Given the description of an element on the screen output the (x, y) to click on. 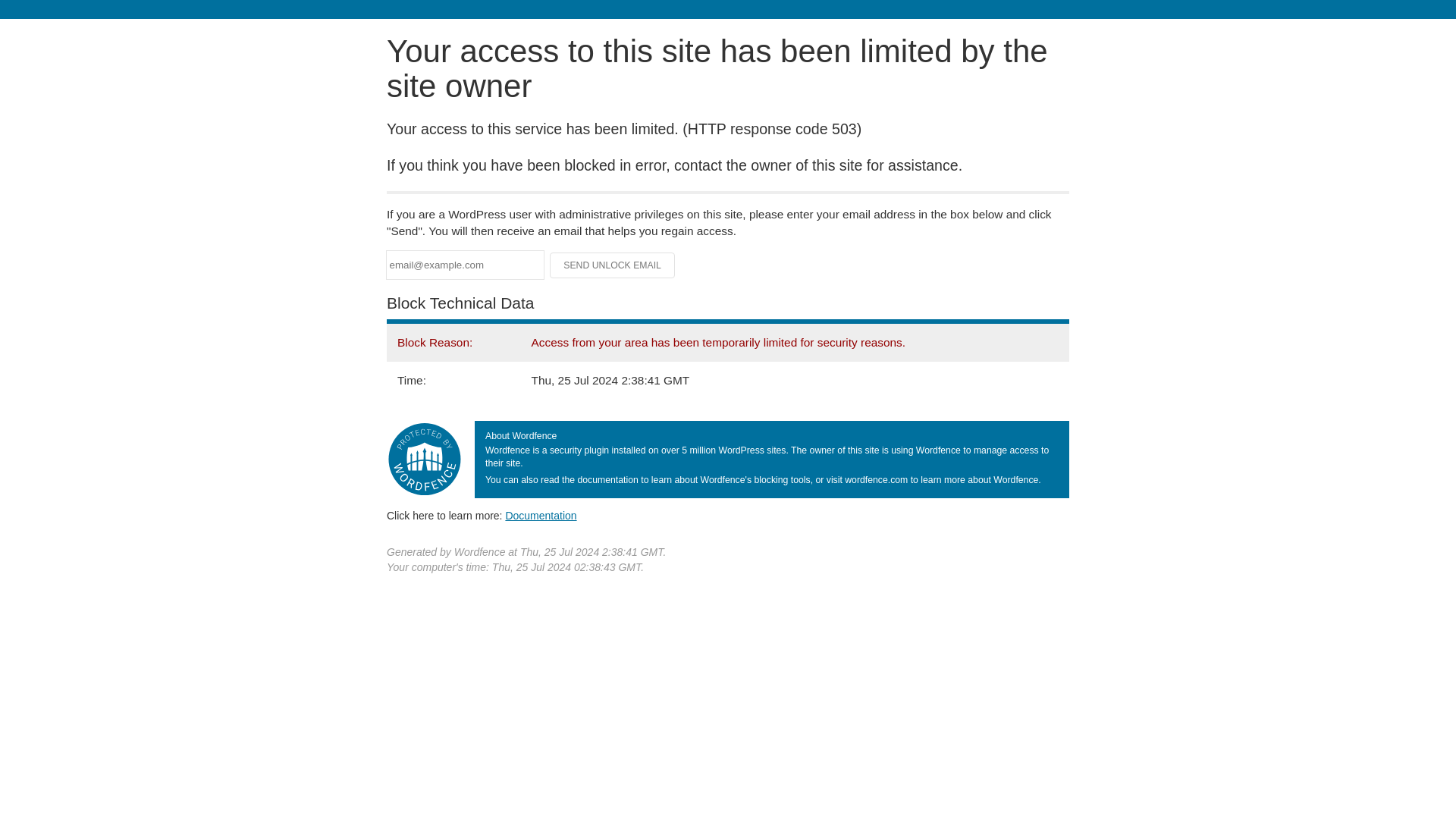
Send Unlock Email (612, 265)
Send Unlock Email (612, 265)
Documentation (540, 515)
